Given the description of an element on the screen output the (x, y) to click on. 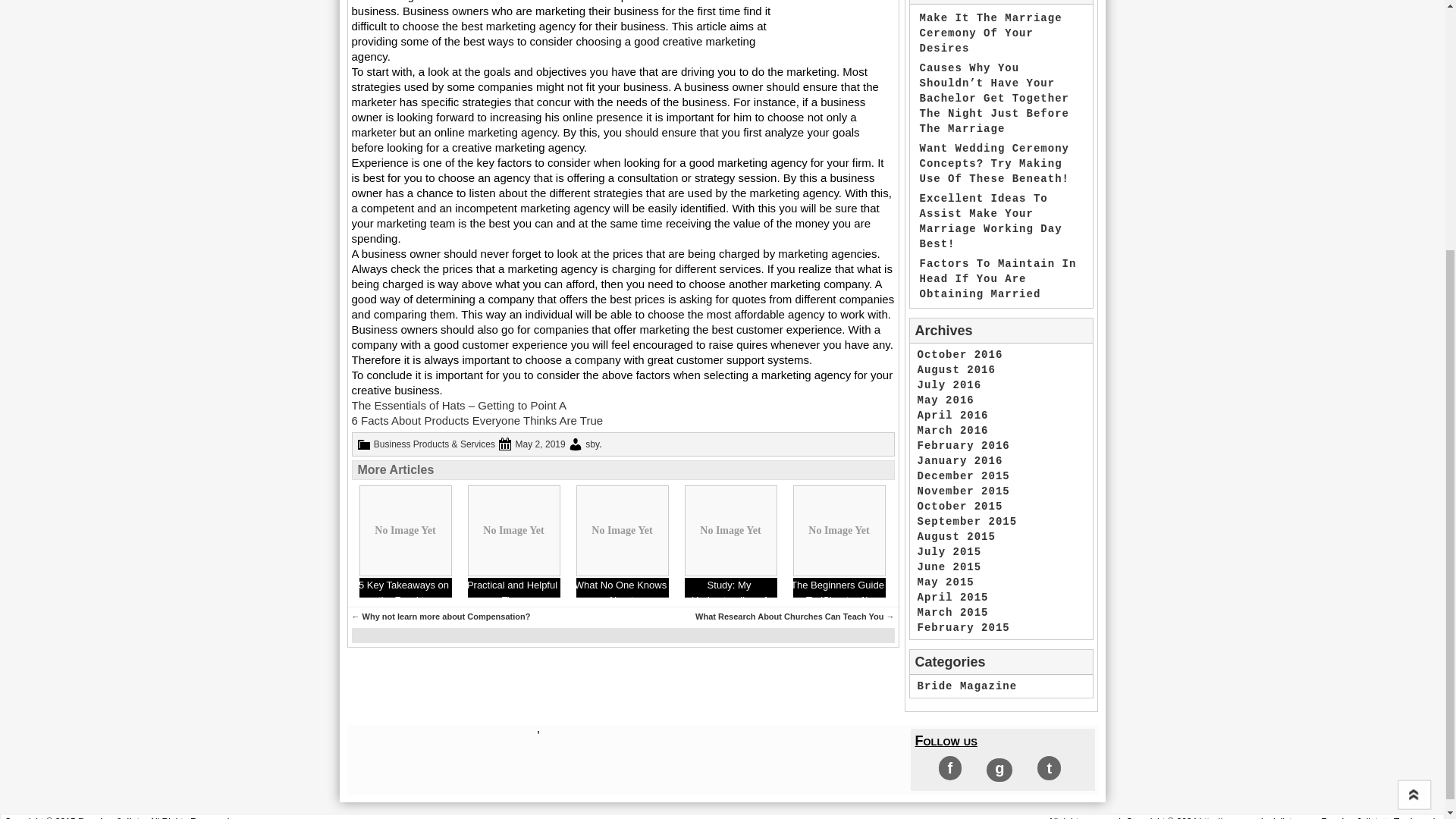
Factors To Maintain In Head If You Are Obtaining Married (996, 278)
November 2015 (963, 491)
February 2016 (963, 445)
8:52 pm (540, 443)
View all posts by sby (591, 443)
October 2015 (960, 506)
August 2016 (956, 369)
October 2016 (960, 354)
March 2016 (952, 430)
Make It The Marriage Ceremony Of Your Desires (989, 33)
May 2, 2019 (540, 443)
sby (591, 443)
December 2015 (963, 476)
